Given the description of an element on the screen output the (x, y) to click on. 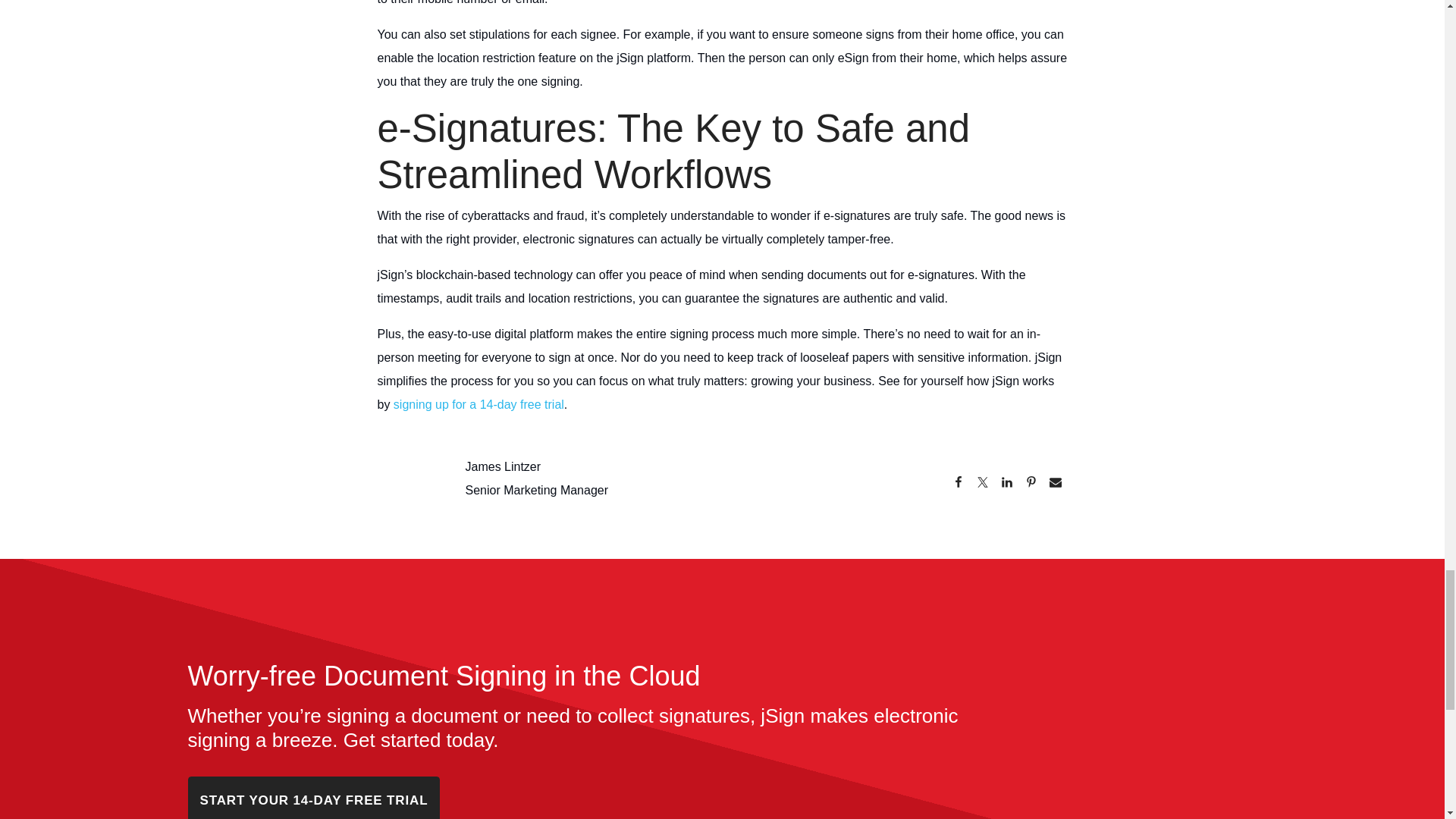
Share on LinkedIn (1006, 484)
Share via Email (1055, 484)
Share on Facebook (958, 484)
Share on Twitter (982, 484)
Share on Pinterest (1031, 484)
